Given the description of an element on the screen output the (x, y) to click on. 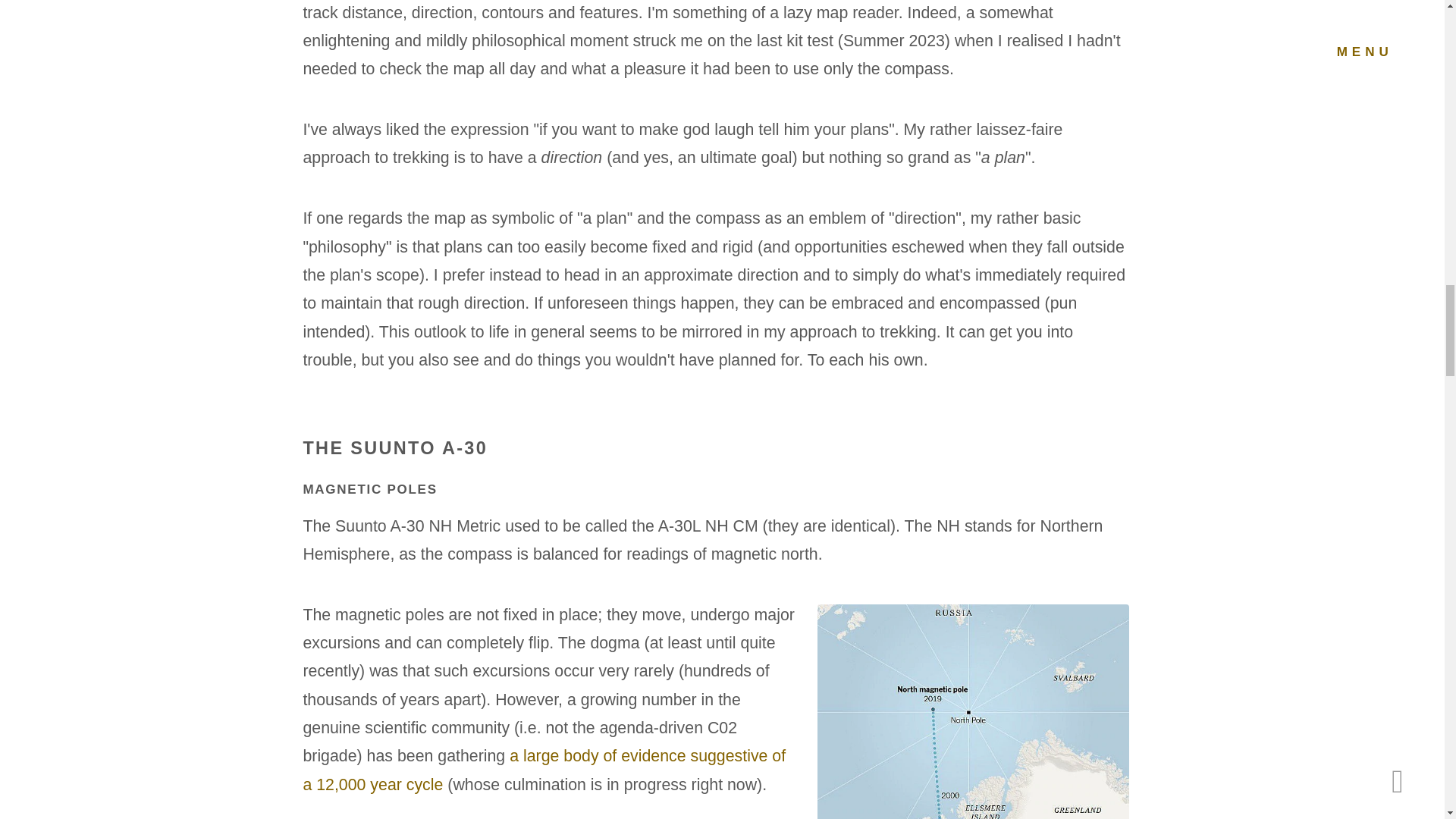
a large body of evidence suggestive of a 12,000 year cycle (544, 769)
